Given the description of an element on the screen output the (x, y) to click on. 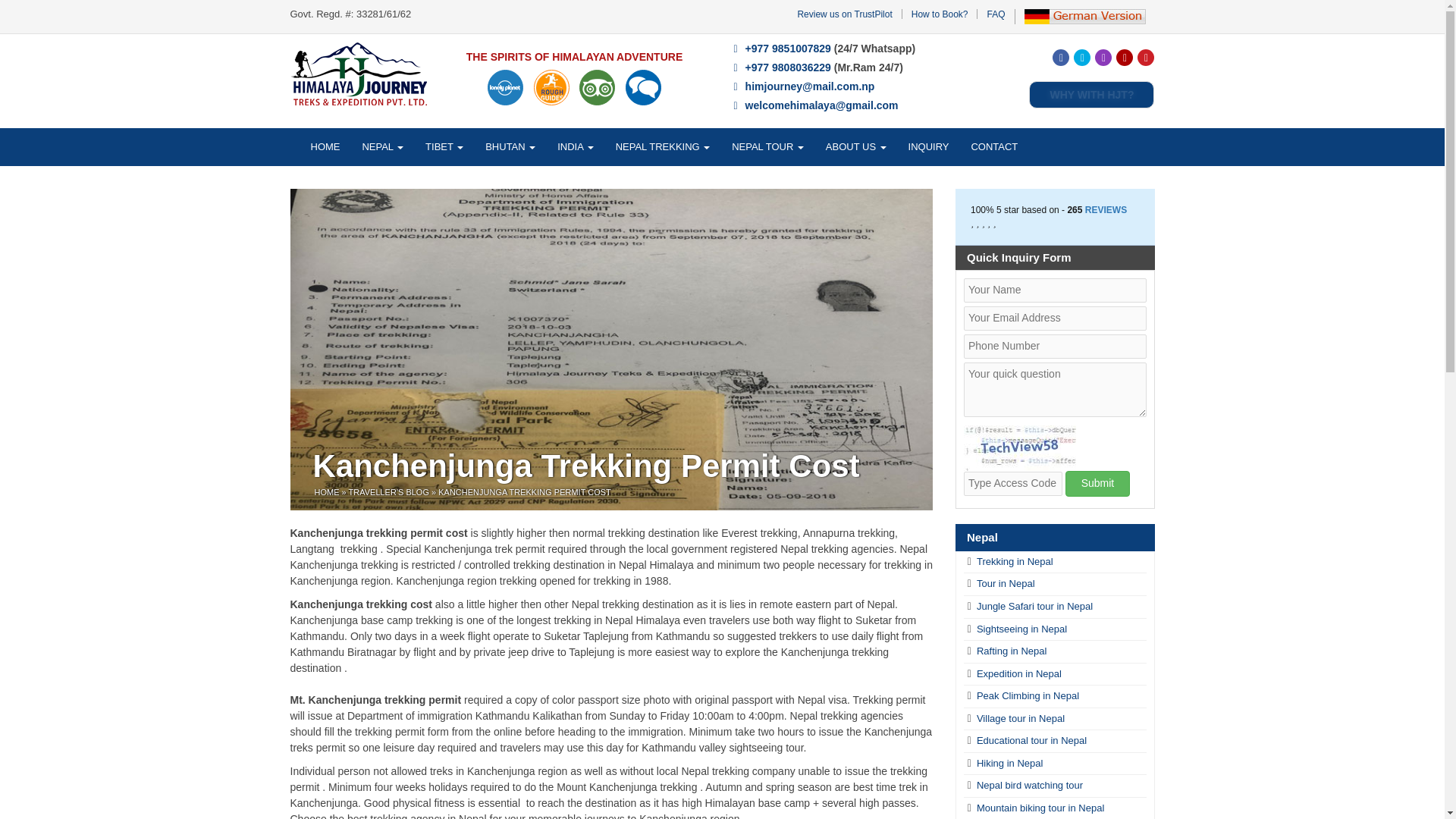
Review us on TrustPilot (843, 14)
How to Book? (939, 14)
Recommended on TripAdvisor (596, 87)
Traveller's Recommendation (643, 87)
NEPAL (382, 146)
Recommended by Lonely Planet Travel Guide Book (504, 87)
